Given the description of an element on the screen output the (x, y) to click on. 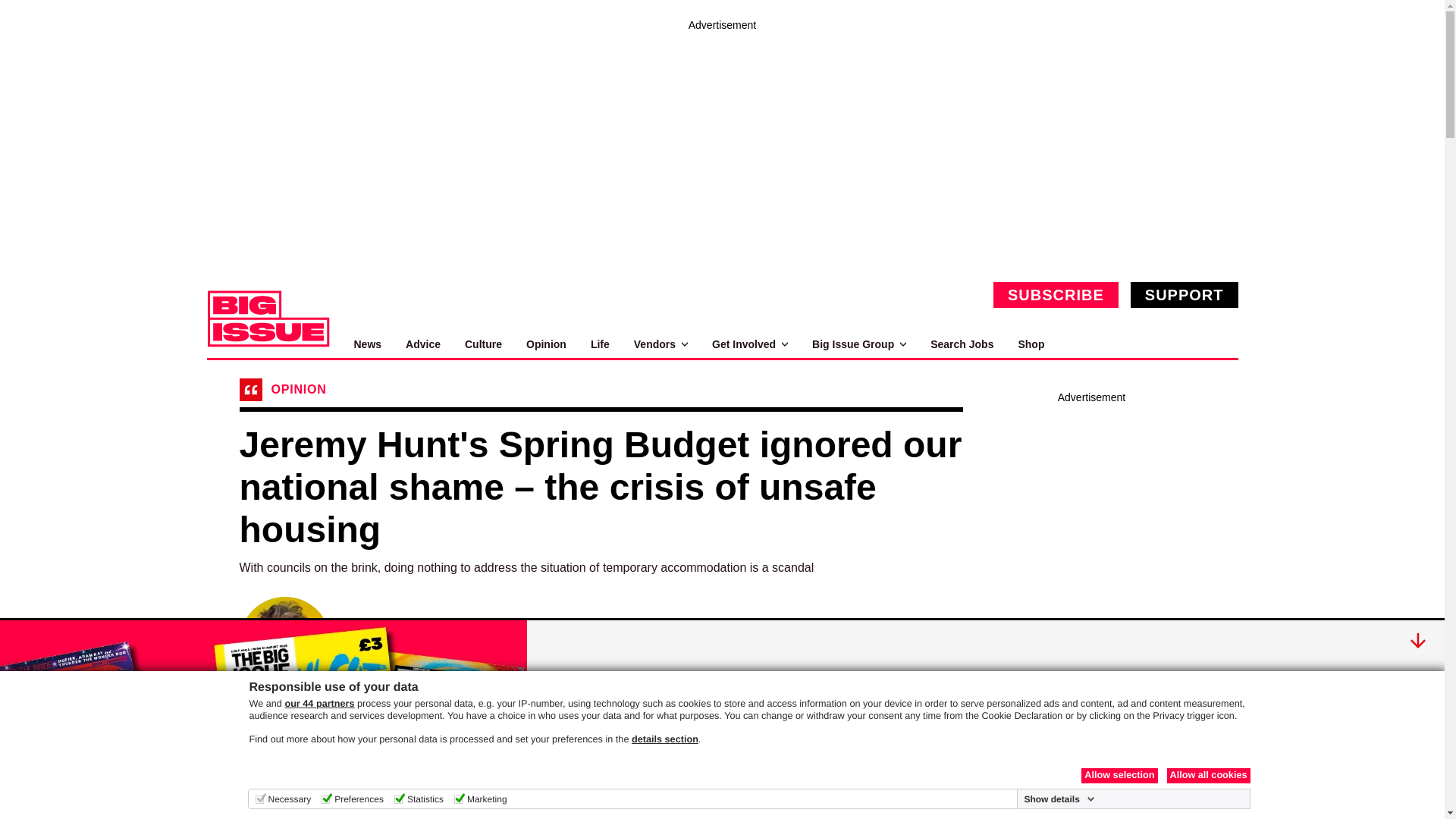
Allow all cookies (1207, 775)
details section (664, 738)
Allow selection (1119, 775)
our 44 partners (318, 703)
Show details (1058, 799)
